Given the description of an element on the screen output the (x, y) to click on. 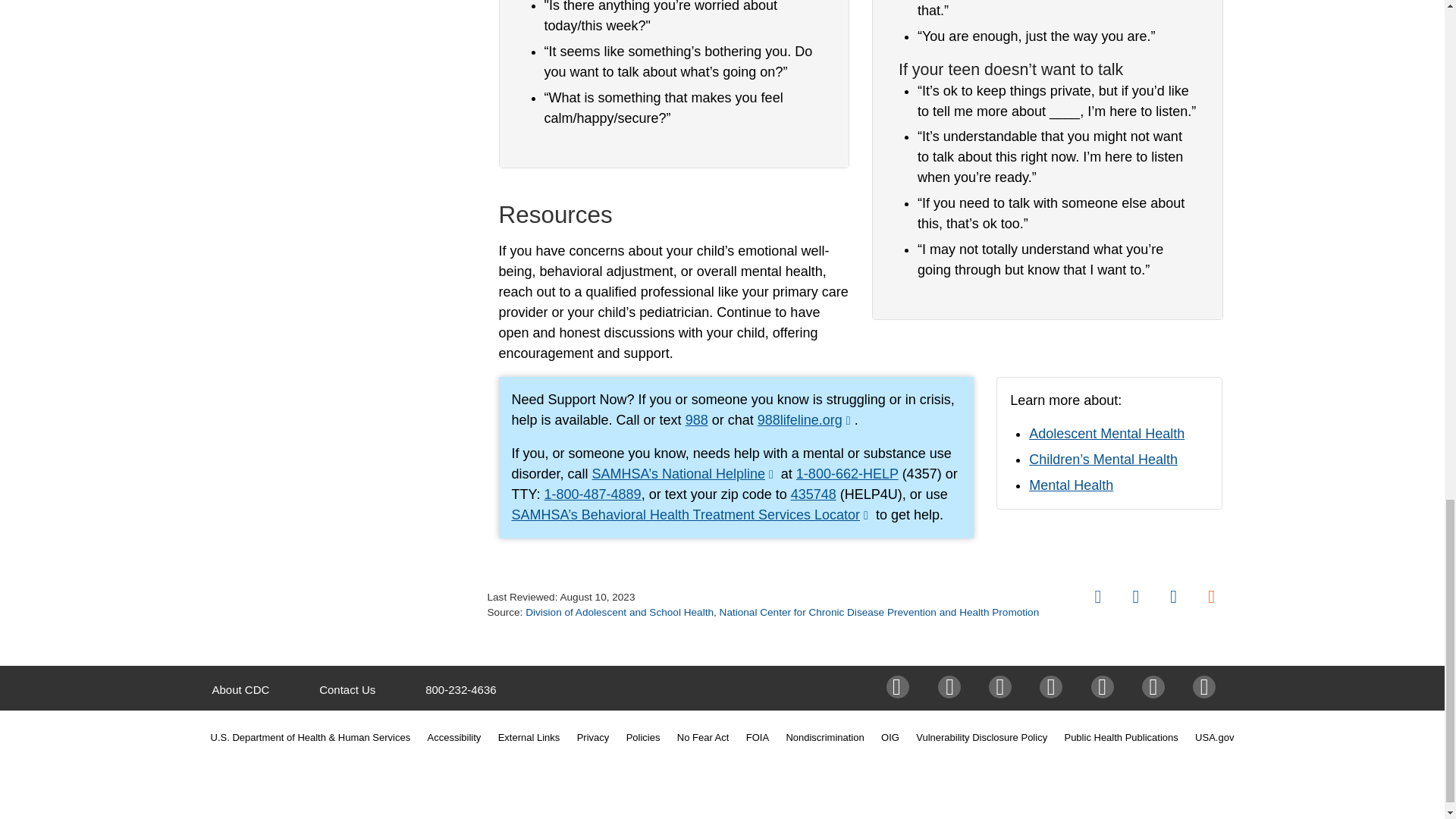
988lifeline.org (805, 419)
Division of Adolescent and School Health (619, 612)
1-800-662-HELP (847, 473)
435748 (812, 494)
Adolescent Mental Health (1107, 433)
1-800-487-4889 (593, 494)
Mental Health (1071, 485)
988 (696, 419)
